Given the description of an element on the screen output the (x, y) to click on. 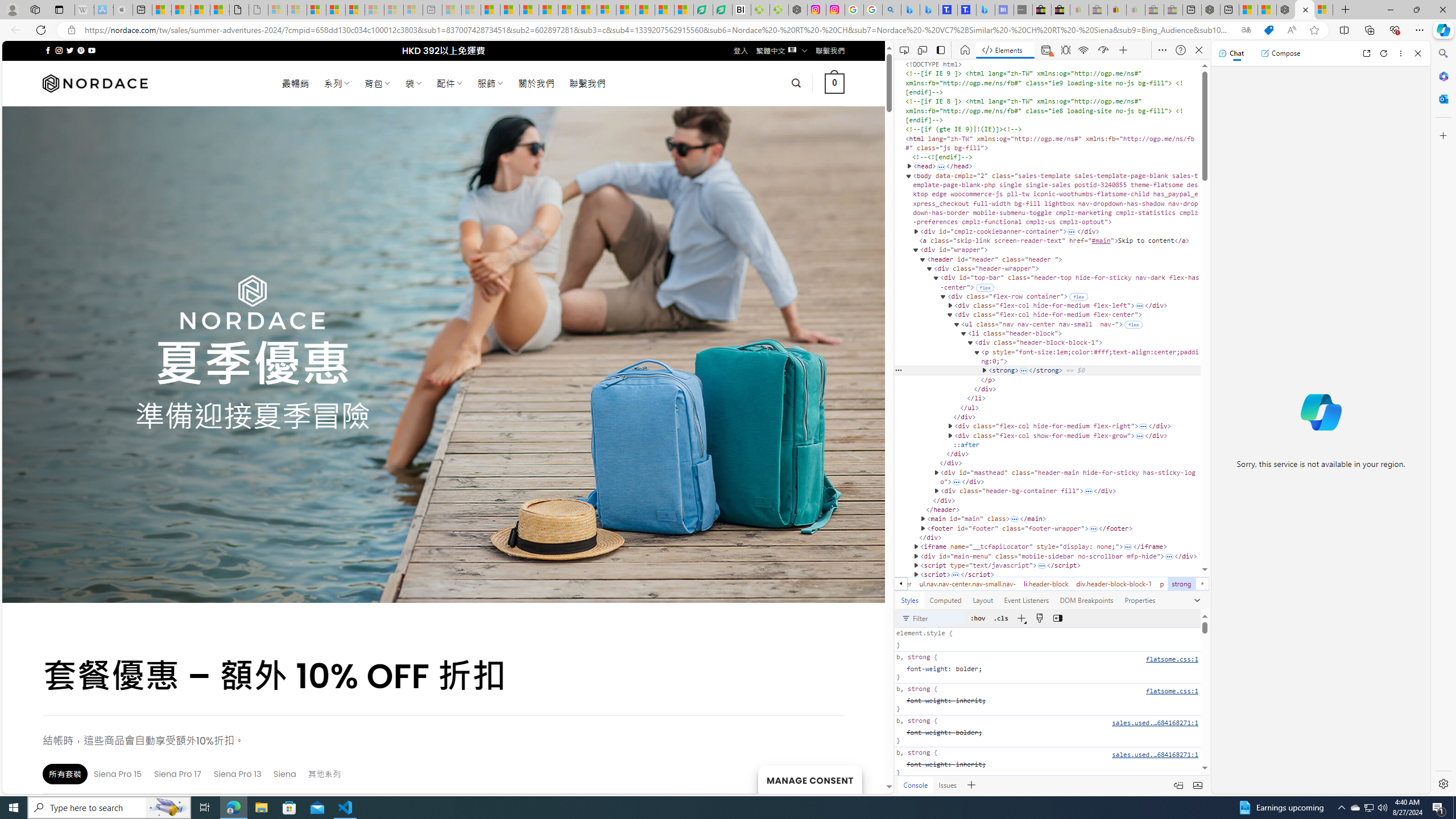
AutomationID: tab-network (1084, 49)
Read aloud this page (Ctrl+Shift+U) (1291, 29)
Follow on Pinterest (80, 50)
Search (1442, 53)
New Style Rule (1021, 617)
More tools (971, 784)
b, strong, css selector (1047, 762)
Element Classes (1000, 617)
Microsoft Bing Travel - Flights from Hong Kong to Bangkok (910, 9)
Performance (1103, 49)
Siena Pro 15 (117, 773)
Follow on Instagram (58, 50)
